Given the description of an element on the screen output the (x, y) to click on. 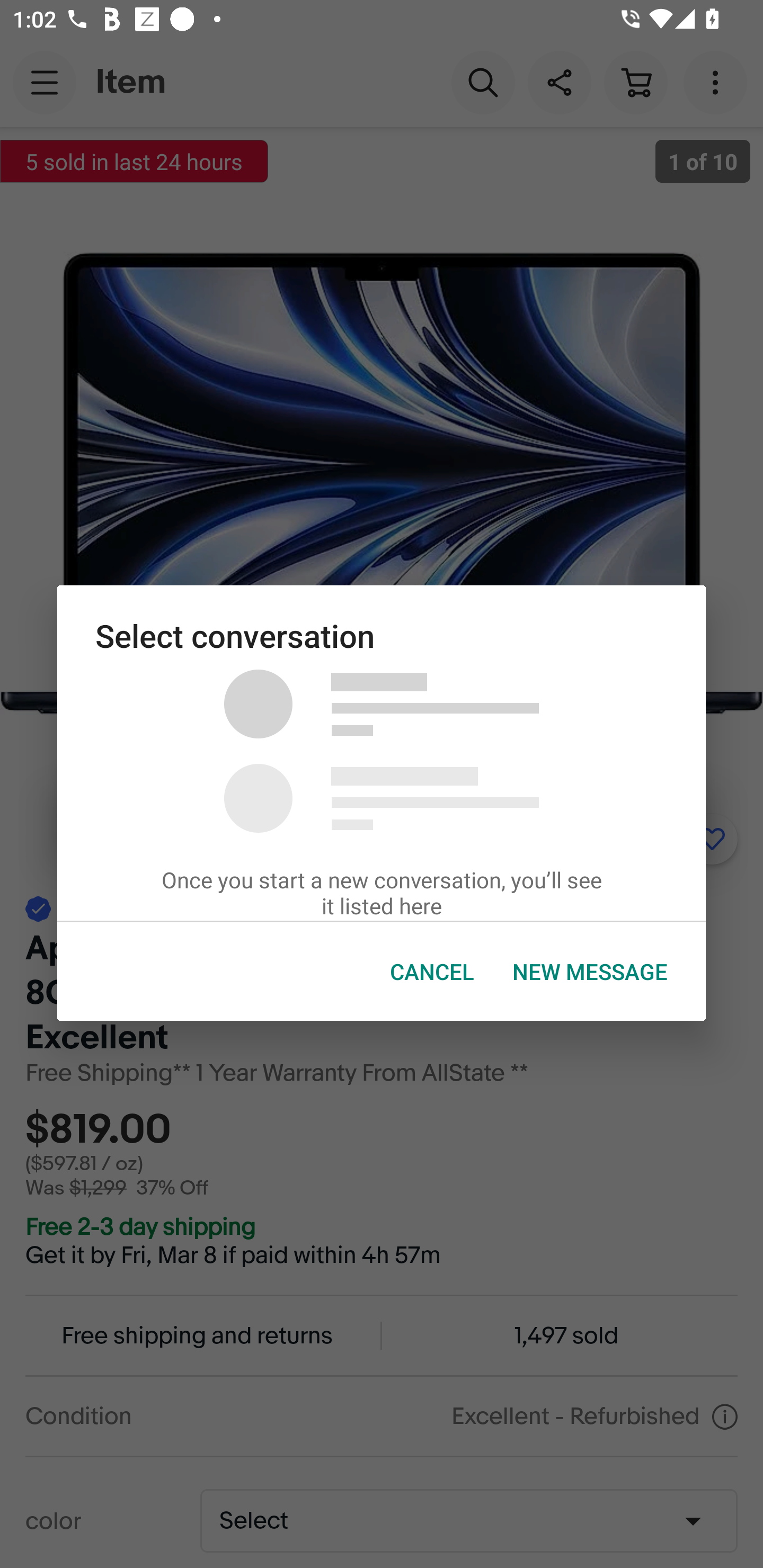
CANCEL (431, 971)
NEW MESSAGE (589, 971)
